Given the description of an element on the screen output the (x, y) to click on. 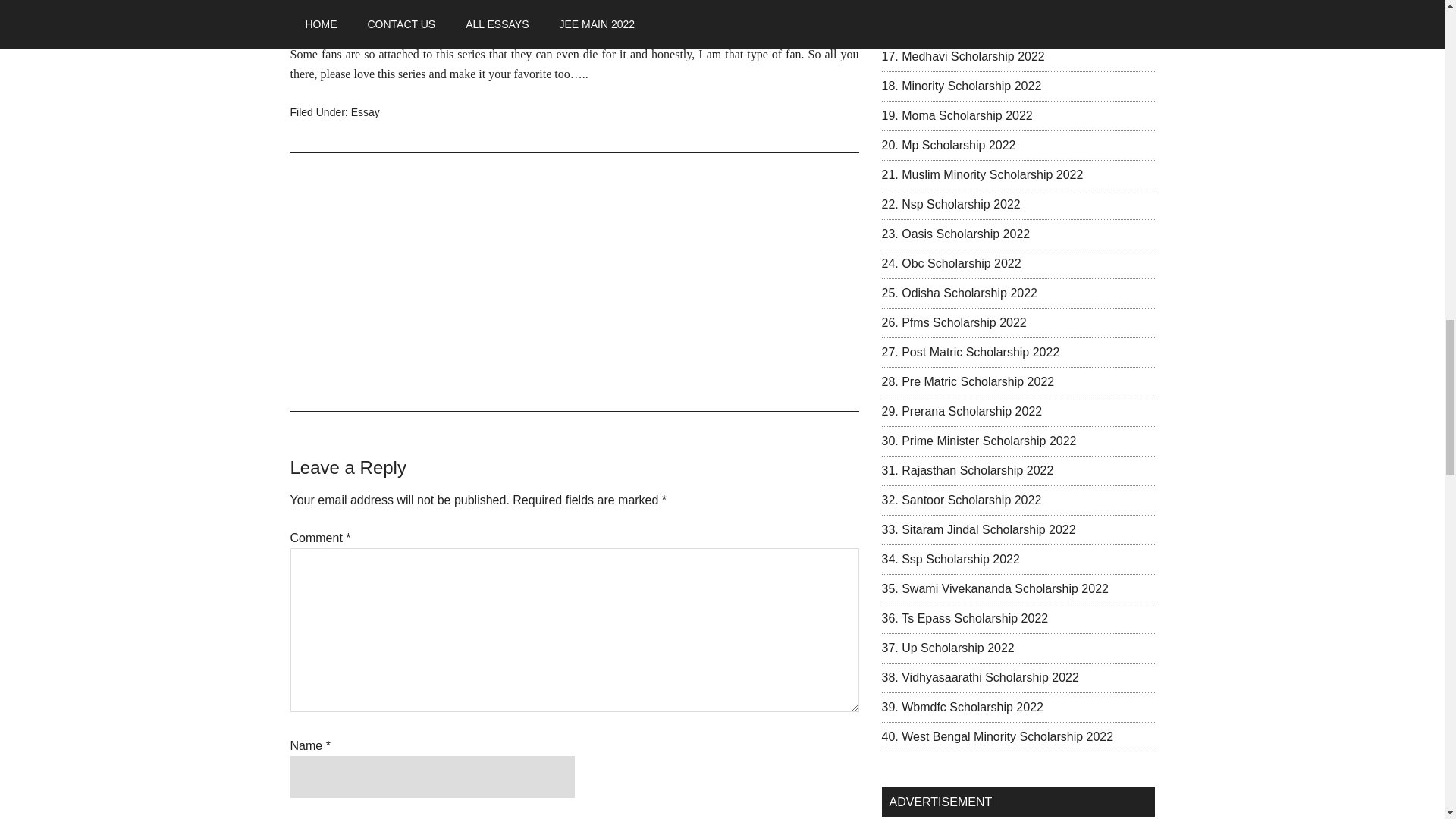
Advertisement (574, 282)
Essay (365, 111)
